Given the description of an element on the screen output the (x, y) to click on. 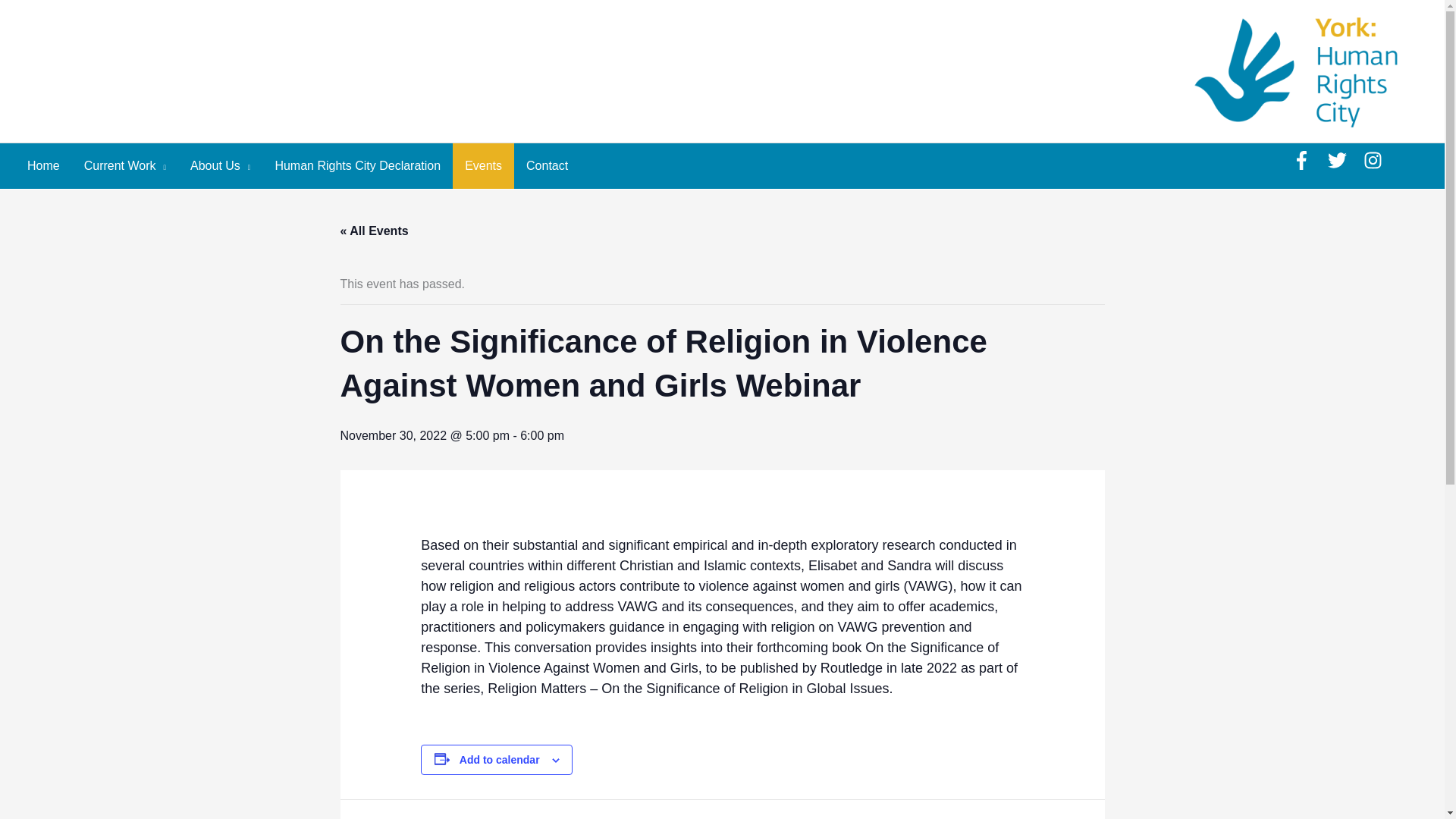
Contact (546, 166)
Human Rights City Declaration (357, 166)
Current Work (124, 166)
Events (482, 166)
Add to calendar (500, 759)
Home (42, 166)
About Us (219, 166)
